Given the description of an element on the screen output the (x, y) to click on. 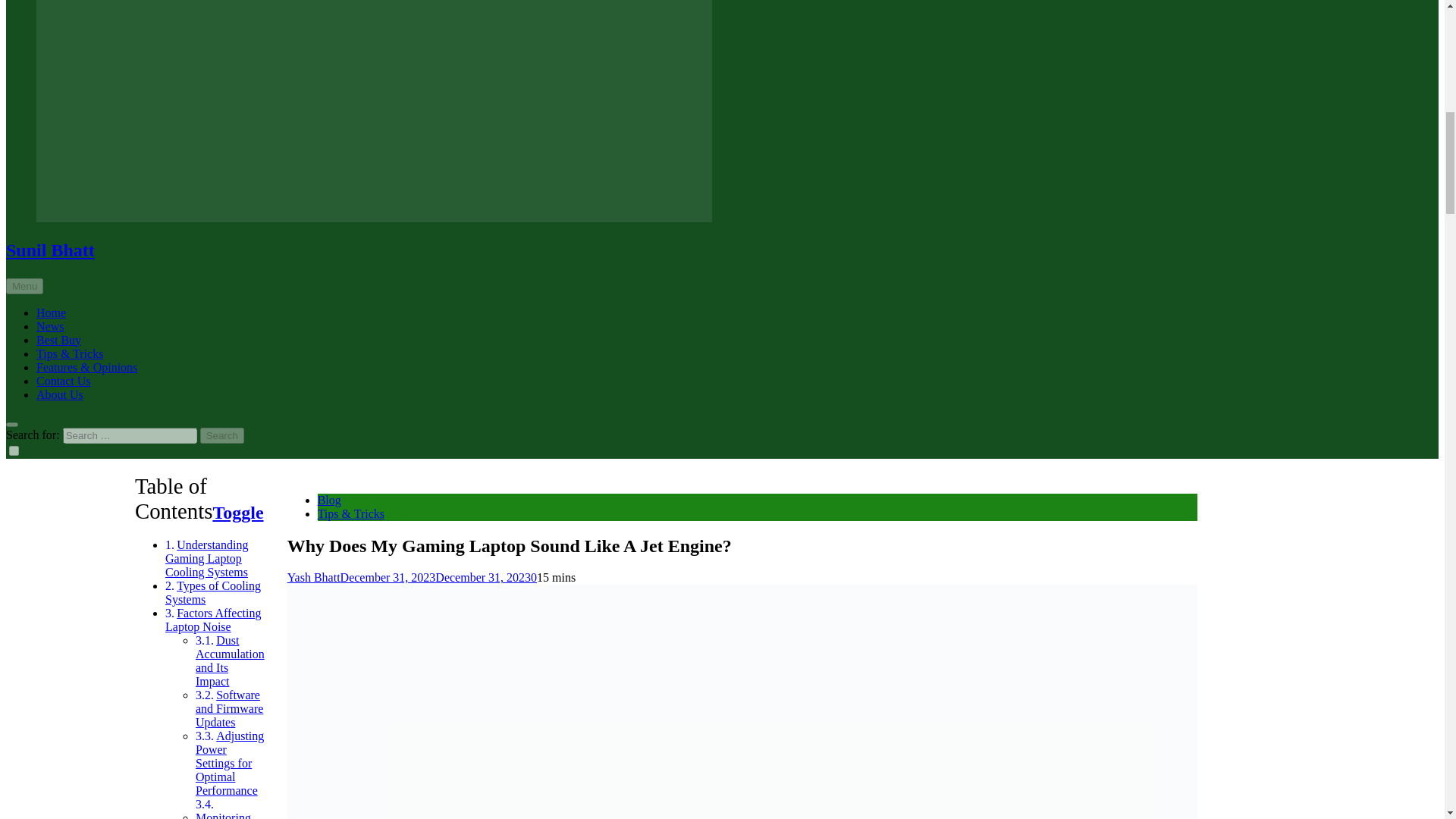
Dust Accumulation and Its Impact (229, 660)
Home (50, 312)
Search (222, 435)
Types of Cooling Systems (212, 592)
on (13, 450)
Software and Firmware Updates (229, 708)
Search (222, 435)
Contact Us (237, 512)
Factors Affecting Laptop Noise (63, 380)
